Given the description of an element on the screen output the (x, y) to click on. 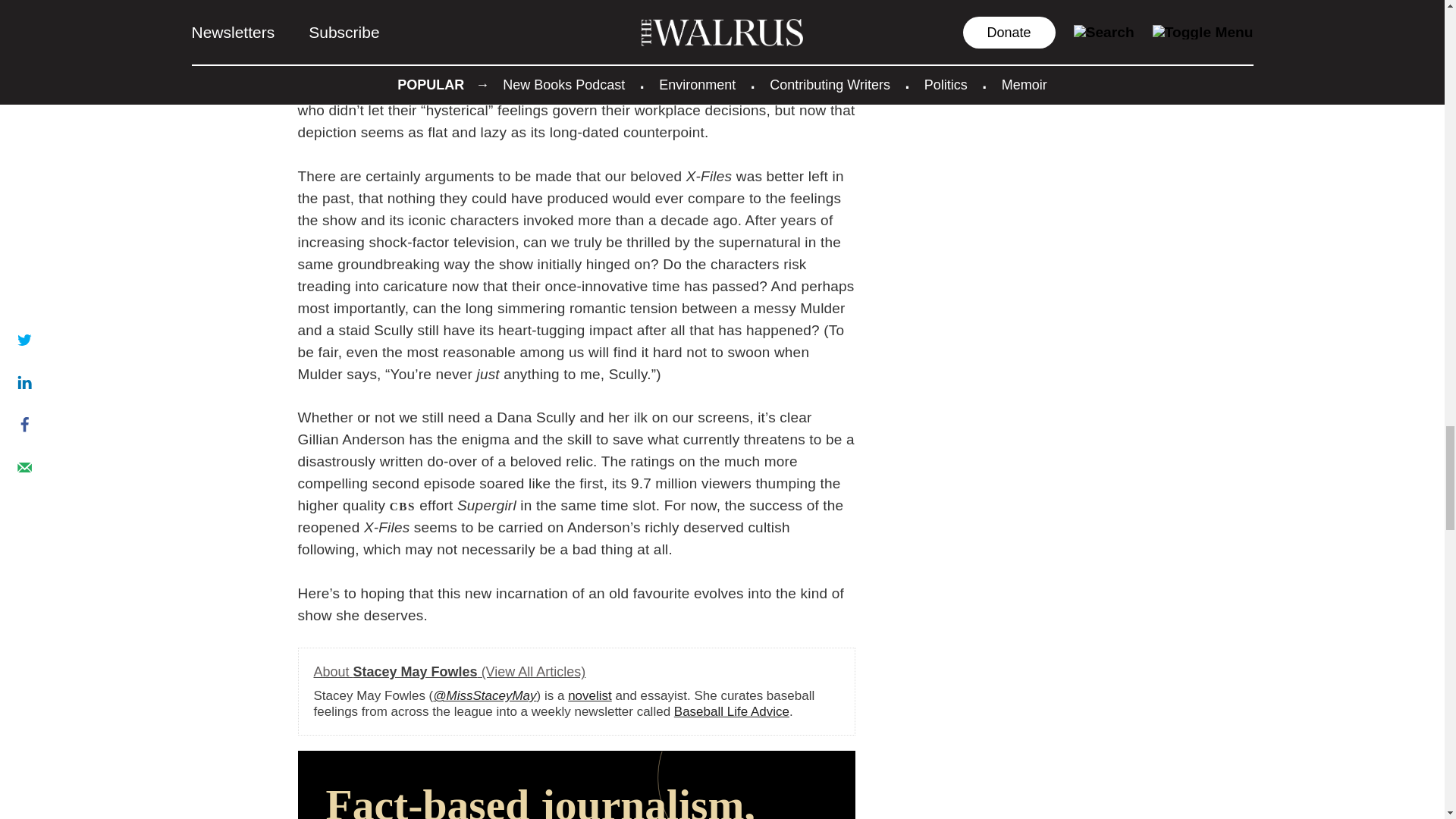
Stacey May Fowles (450, 671)
